Given the description of an element on the screen output the (x, y) to click on. 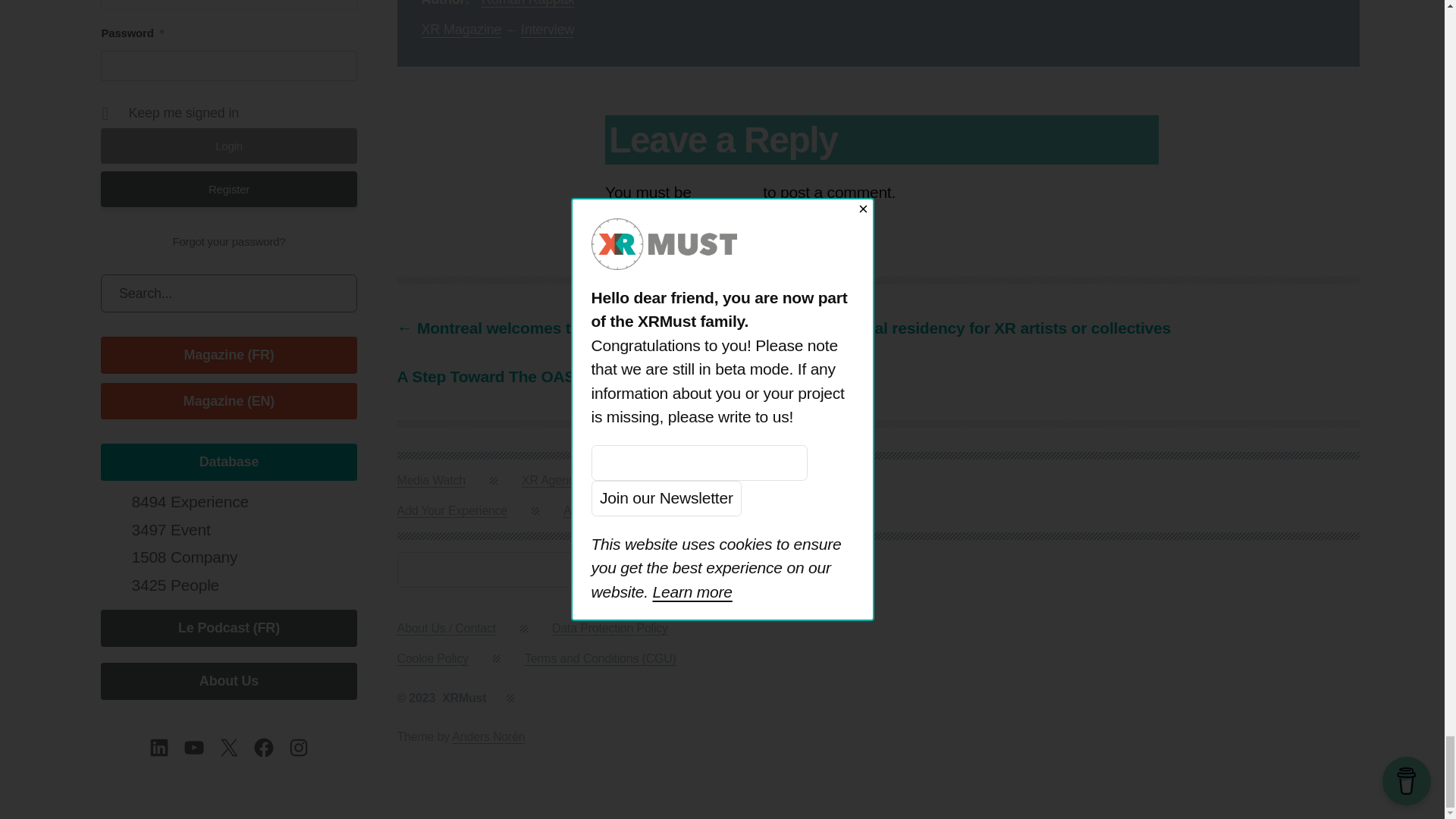
Join our Newsletter (692, 570)
